Given the description of an element on the screen output the (x, y) to click on. 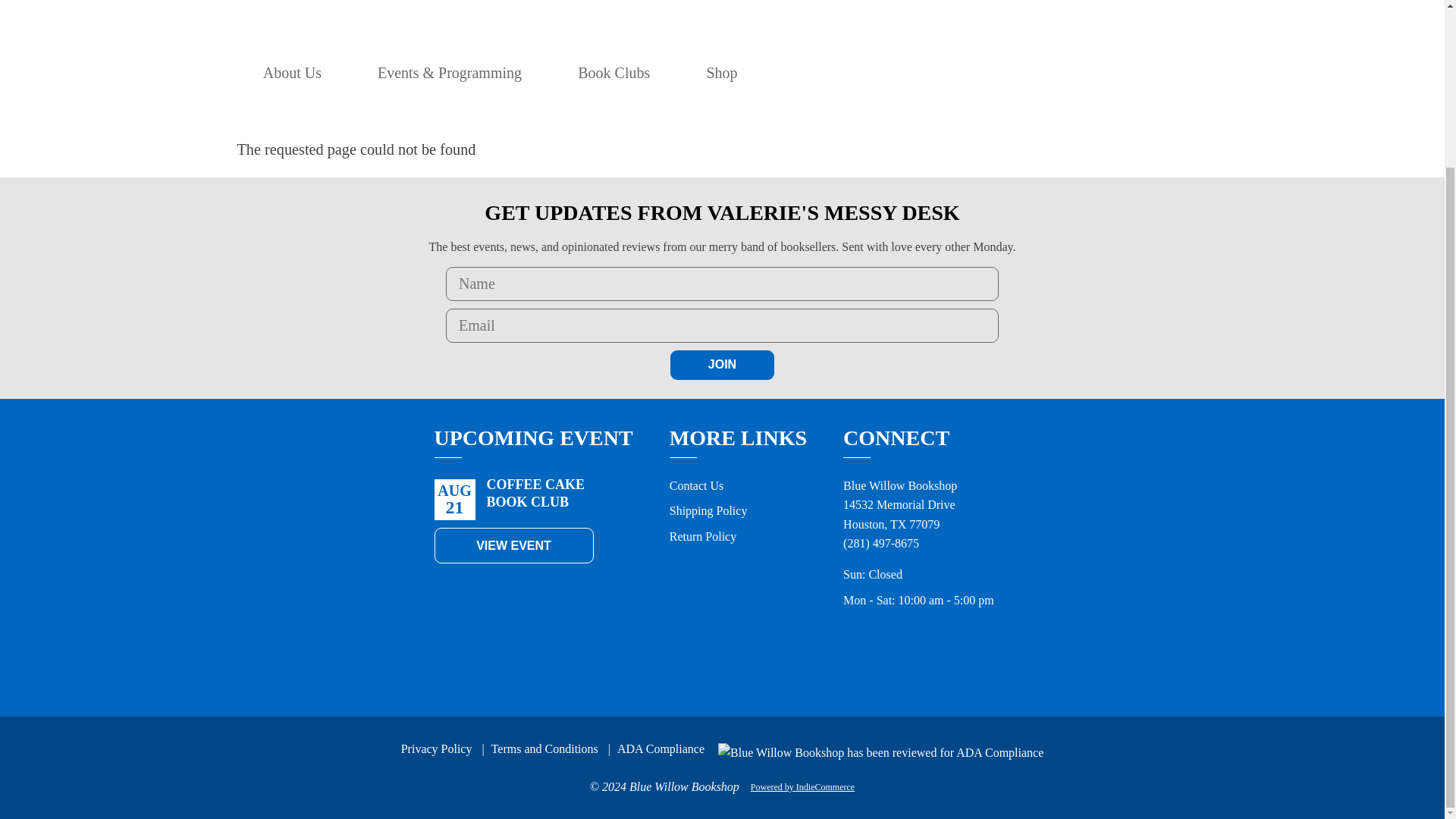
Log in (1022, 72)
Connect with Instagram (926, 663)
About Us (292, 72)
Book Clubs (613, 72)
Cart (1088, 72)
Wishlist (1055, 72)
Connect with Youtube Channel (993, 663)
SEARCH (989, 72)
Search (989, 72)
Log in (1022, 72)
